Given the description of an element on the screen output the (x, y) to click on. 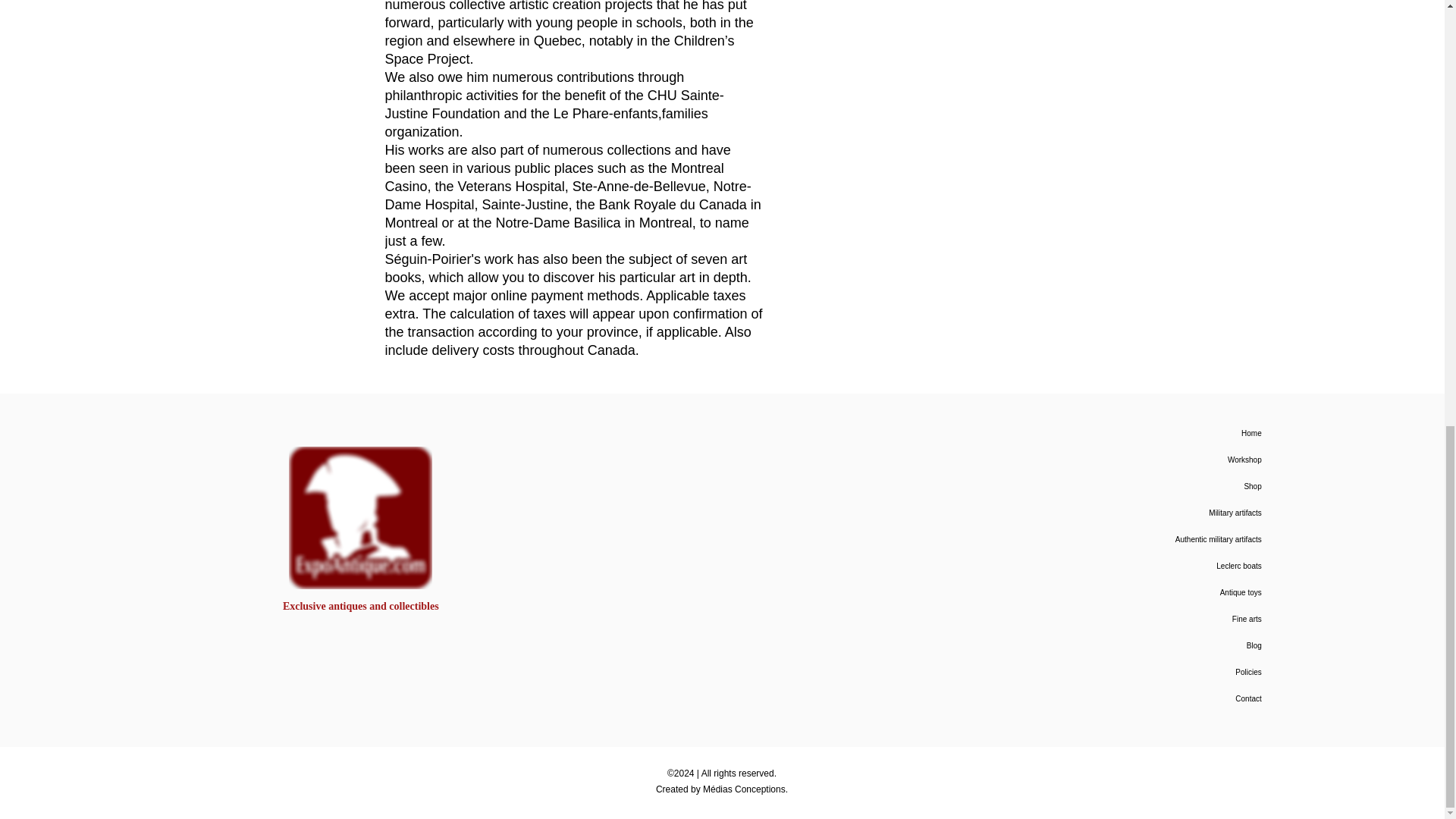
Home (1145, 433)
Shop (1145, 486)
Workshop (1145, 459)
Leclerc boats (1145, 565)
Military artifacts (1145, 512)
Antique toys (1145, 592)
Fine arts (1145, 619)
Contact (1145, 698)
Authentic military artifacts (1145, 539)
Blog (1145, 645)
Policies (1145, 672)
